Given the description of an element on the screen output the (x, y) to click on. 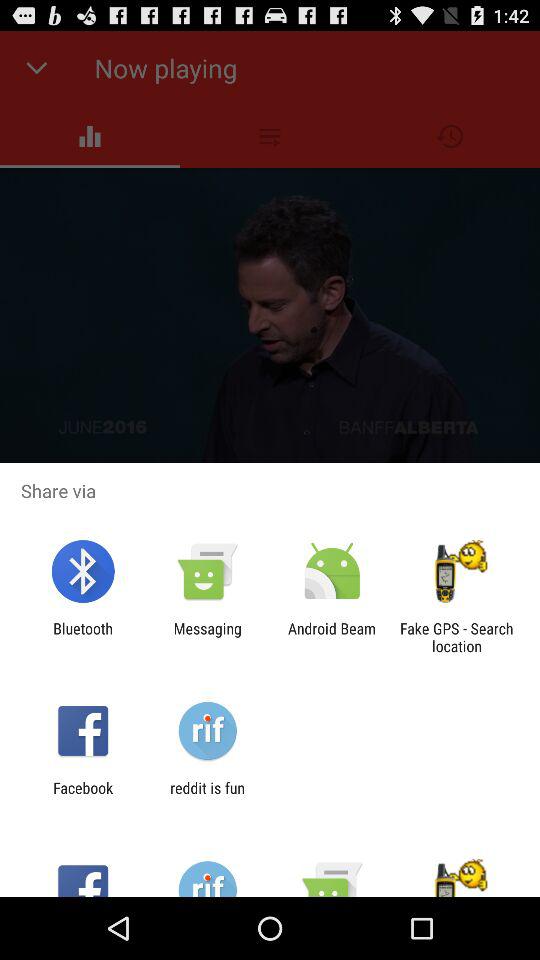
select reddit is fun app (207, 796)
